Given the description of an element on the screen output the (x, y) to click on. 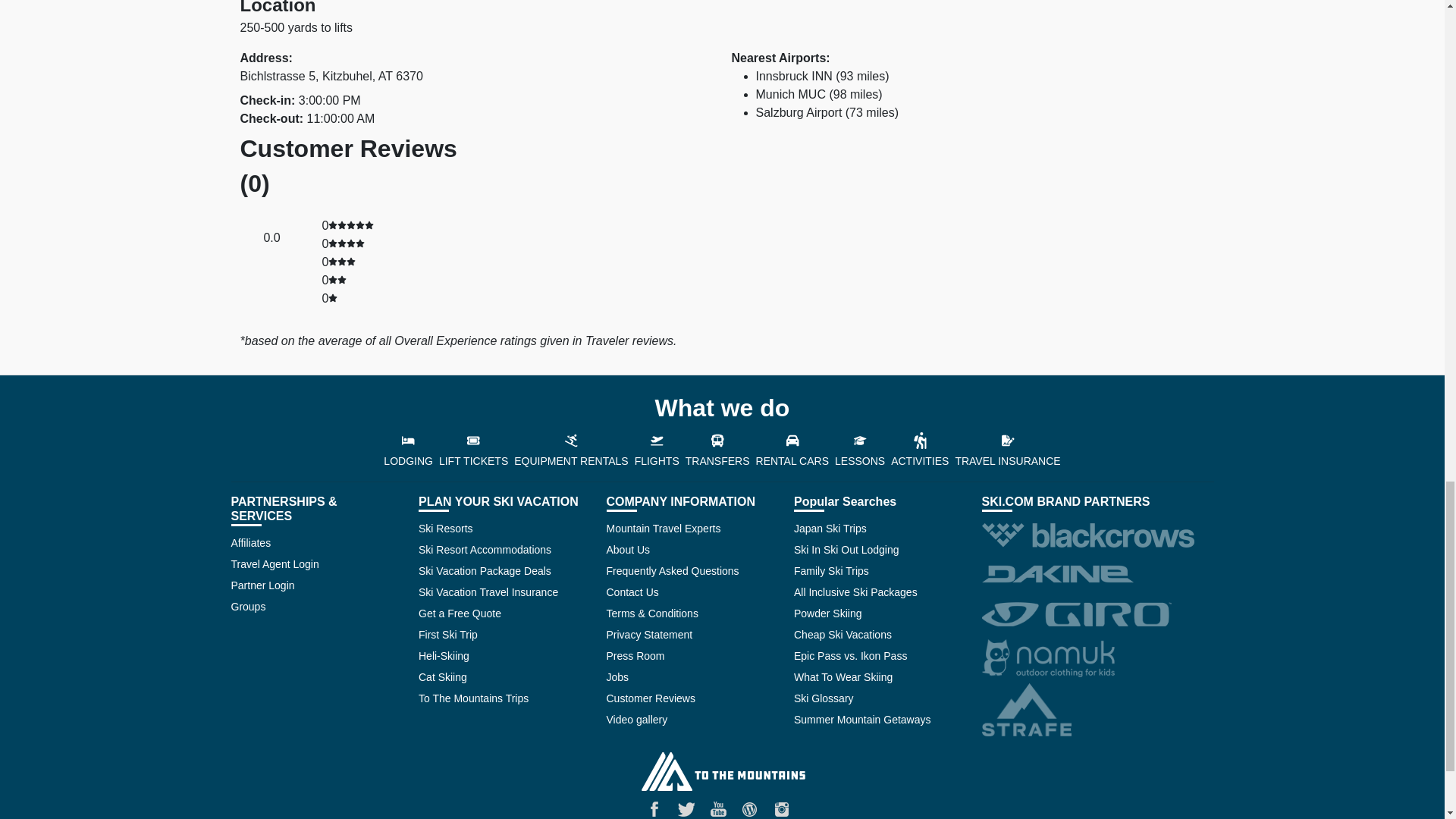
 0 (347, 243)
 0 (337, 279)
 0 (351, 225)
 0 (342, 261)
